Given the description of an element on the screen output the (x, y) to click on. 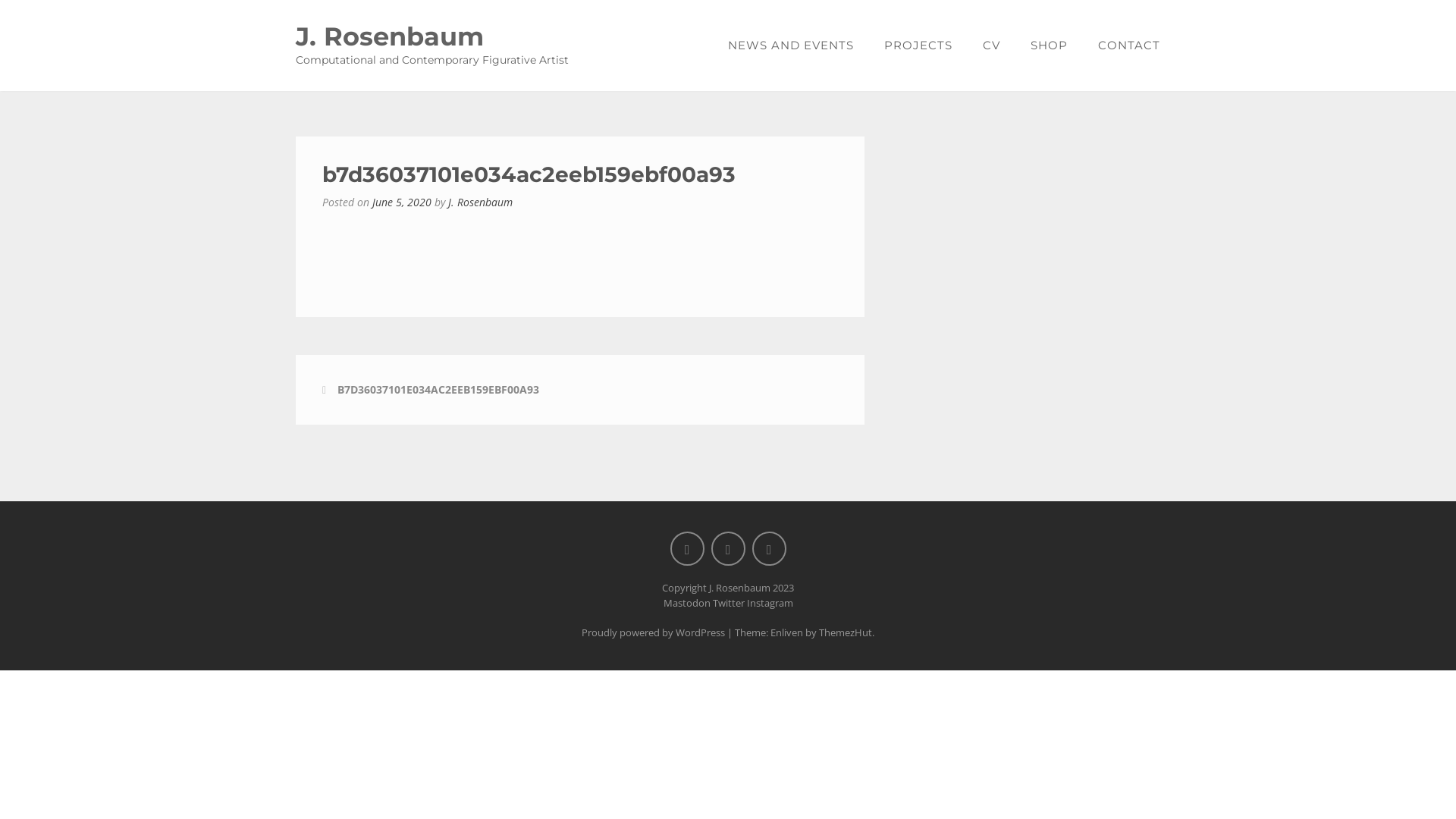
SHOP Element type: text (1048, 45)
J. Rosenbaum Element type: text (480, 201)
ThemezHut Element type: text (845, 632)
June 5, 2020 Element type: text (401, 201)
Instagram Element type: text (769, 602)
NEWS AND EVENTS Element type: text (790, 45)
B7D36037101E034AC2EEB159EBF00A93 Element type: text (438, 389)
J. Rosenbaum Element type: text (389, 35)
Proudly powered by WordPress Element type: text (652, 632)
CV Element type: text (991, 45)
PROJECTS Element type: text (918, 45)
CONTACT Element type: text (1121, 45)
Twitter Element type: text (728, 602)
Mastodon Element type: text (685, 602)
